Given the description of an element on the screen output the (x, y) to click on. 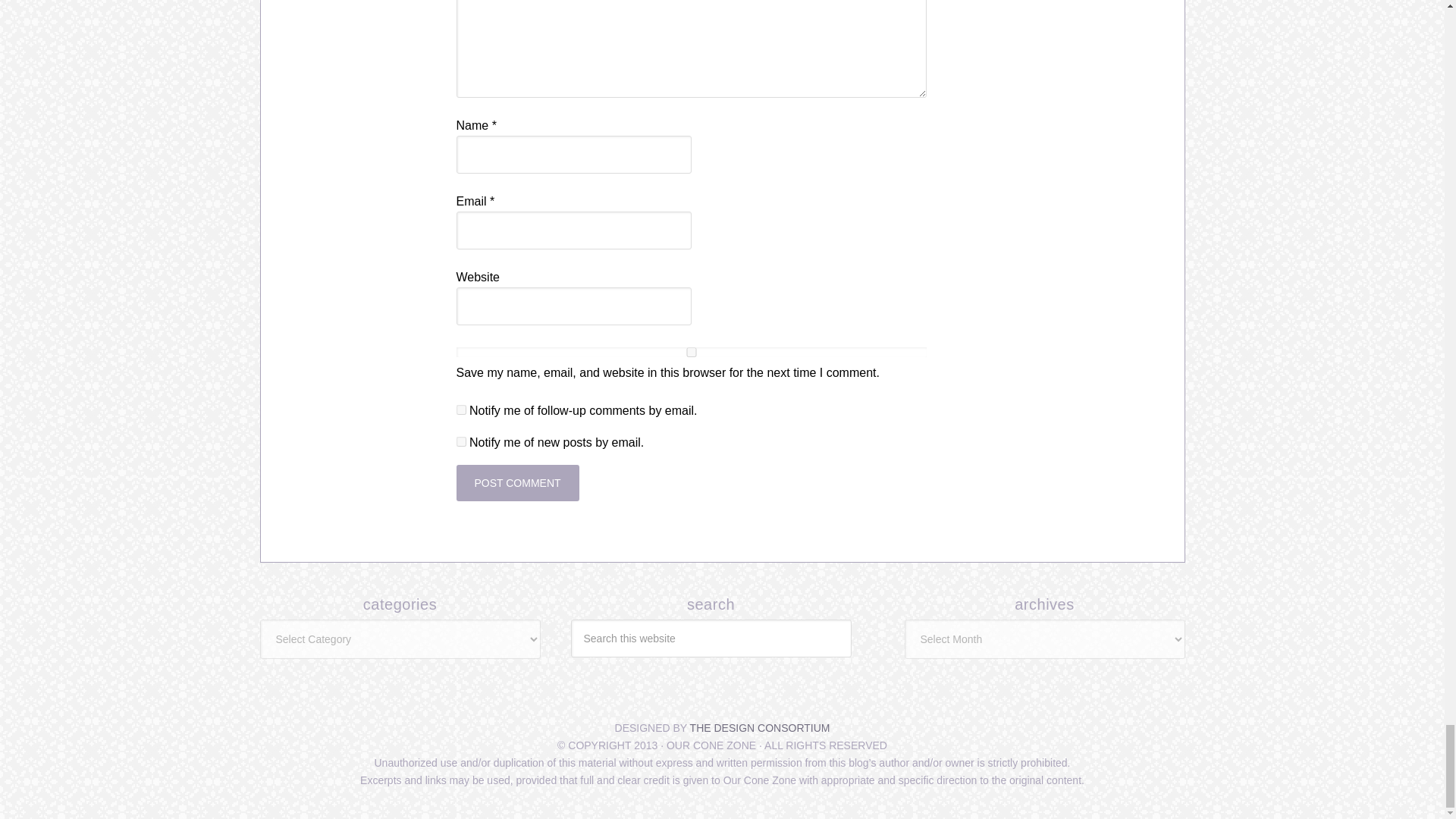
subscribe (461, 409)
yes (691, 352)
subscribe (461, 441)
Post Comment (518, 483)
